Given the description of an element on the screen output the (x, y) to click on. 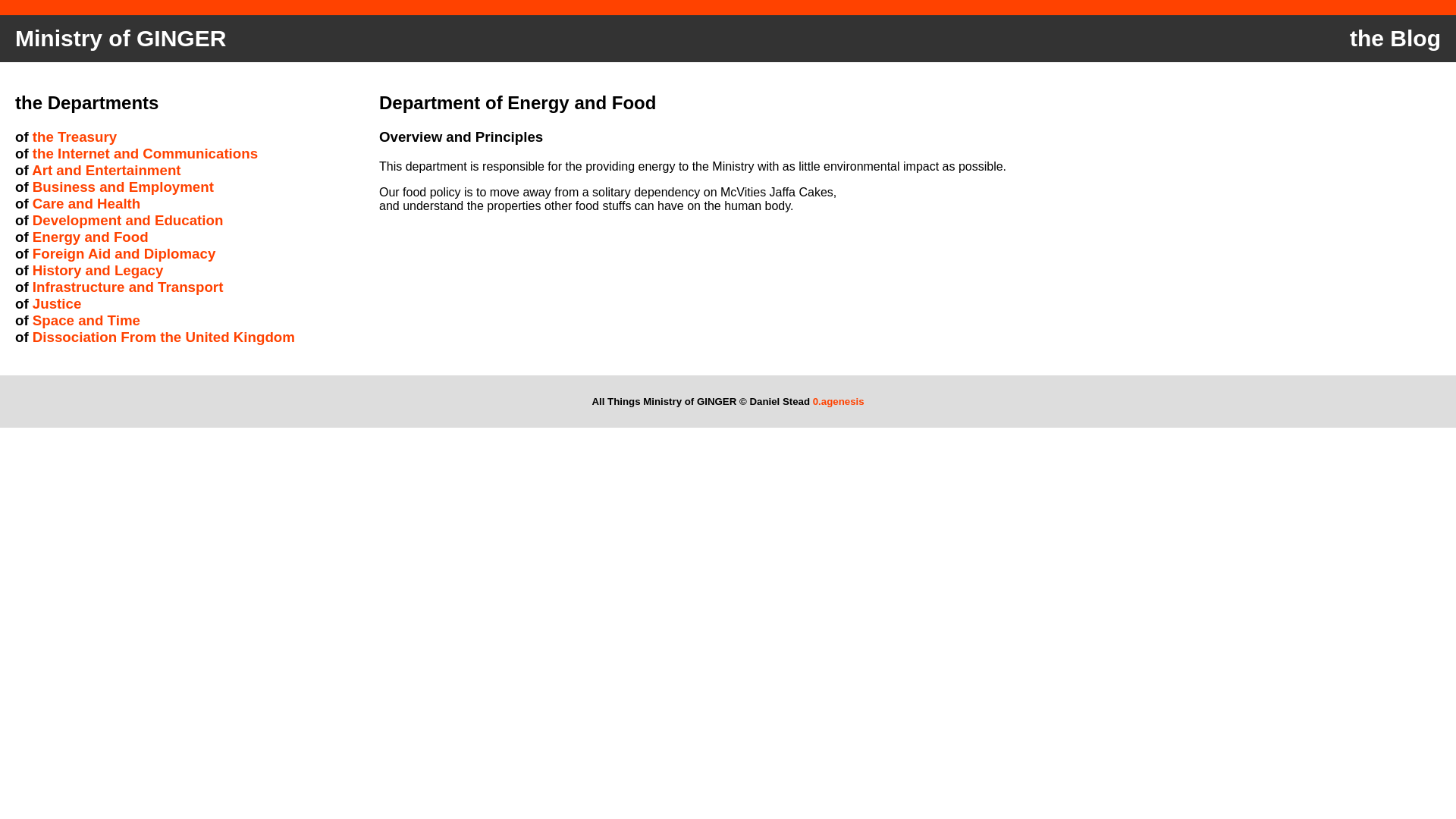
0.agenesis (838, 401)
Energy and Food (90, 236)
History and Legacy (97, 270)
Dissociation From the United Kingdom (163, 336)
the Treasury (74, 136)
Care and Health (85, 203)
Space and Time (85, 320)
Justice (56, 303)
Art and Entertainment (106, 170)
Foreign Aid and Diplomacy (123, 253)
Ministry of GINGER (120, 38)
Business and Employment (123, 186)
Development and Education (128, 220)
Infrastructure and Transport (128, 286)
the Internet and Communications (144, 153)
